Given the description of an element on the screen output the (x, y) to click on. 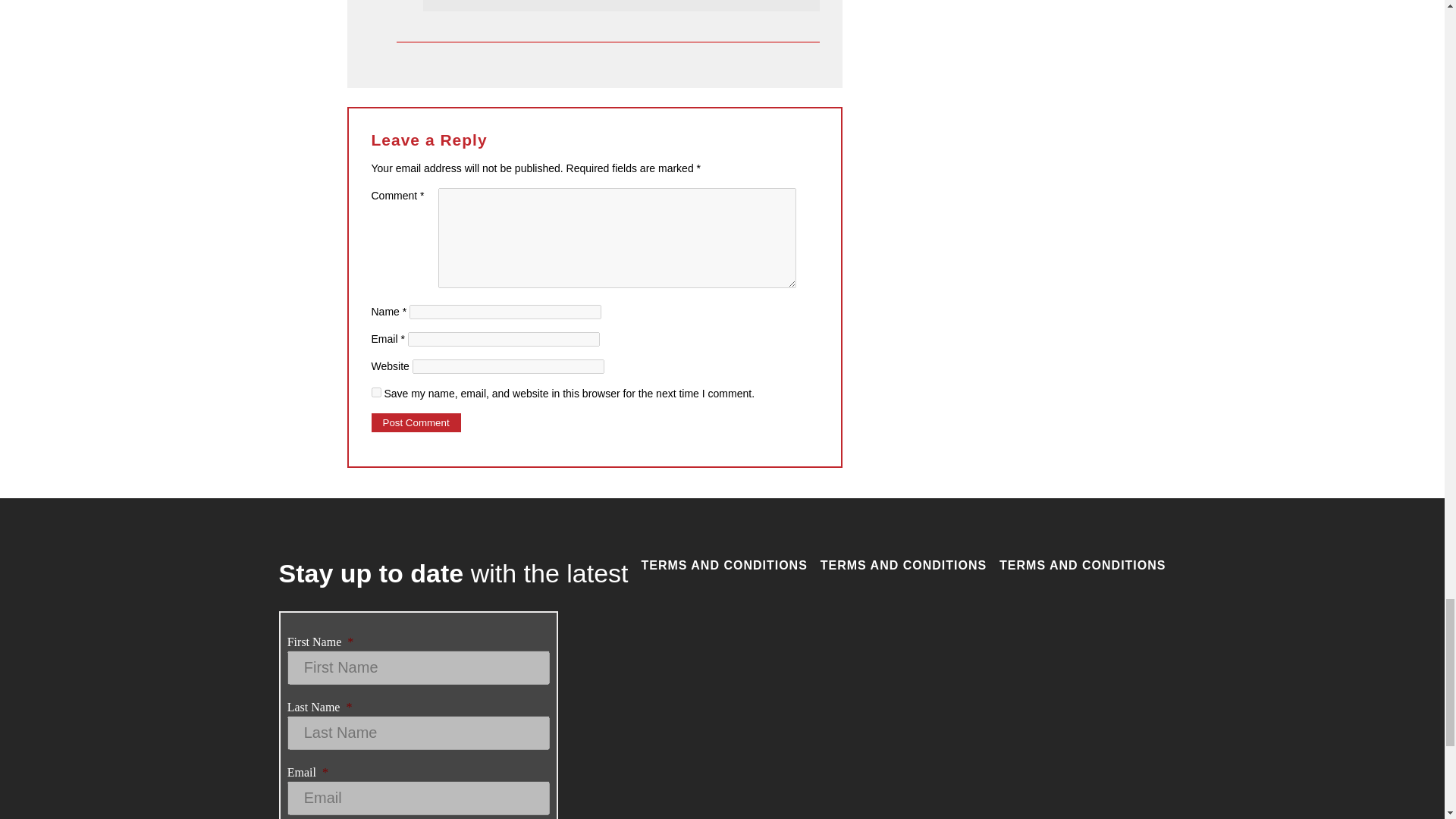
Post Comment (416, 422)
yes (376, 392)
Post Comment (416, 422)
